Given the description of an element on the screen output the (x, y) to click on. 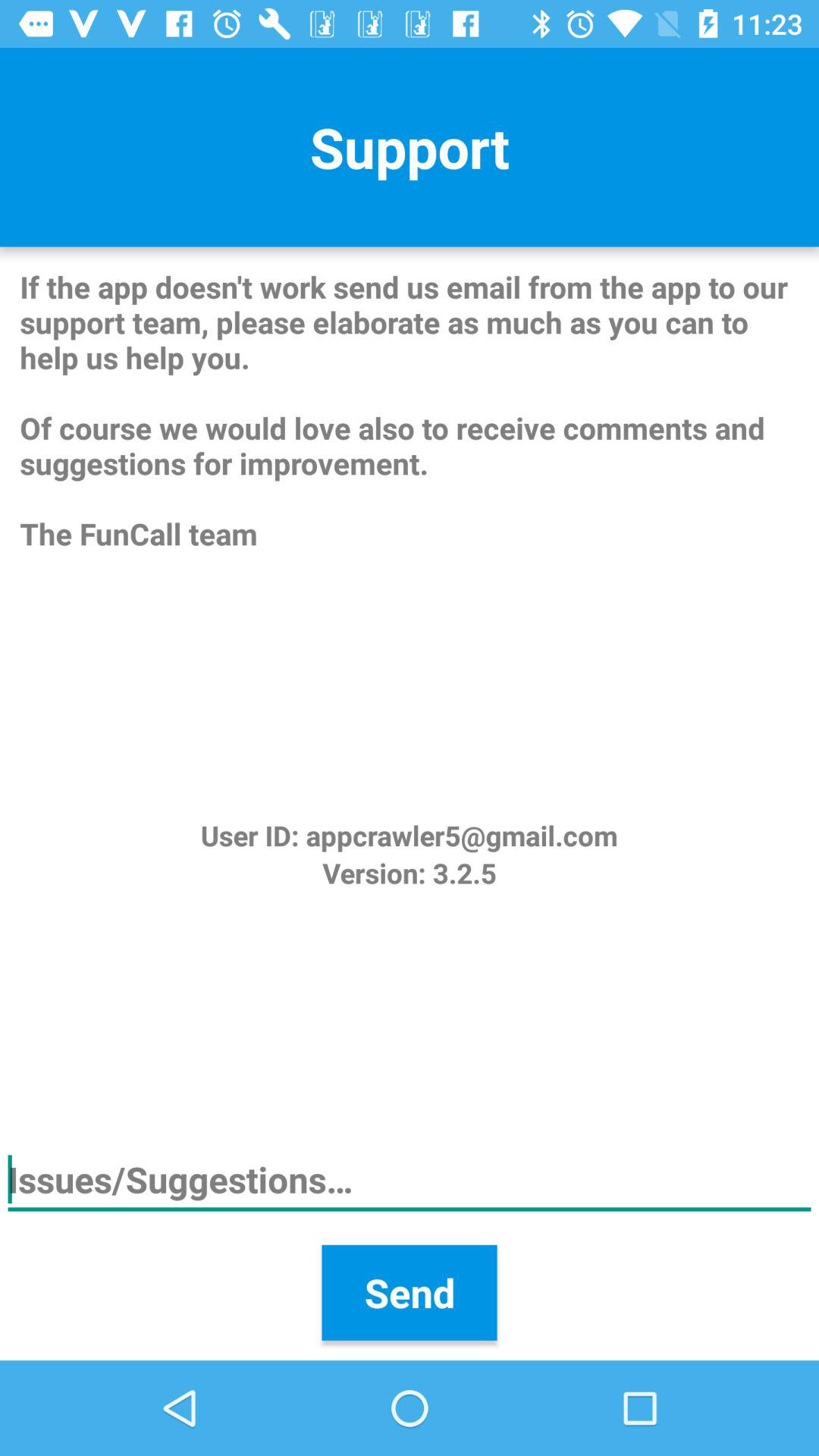
flip to the user id appcrawler5 icon (408, 835)
